Given the description of an element on the screen output the (x, y) to click on. 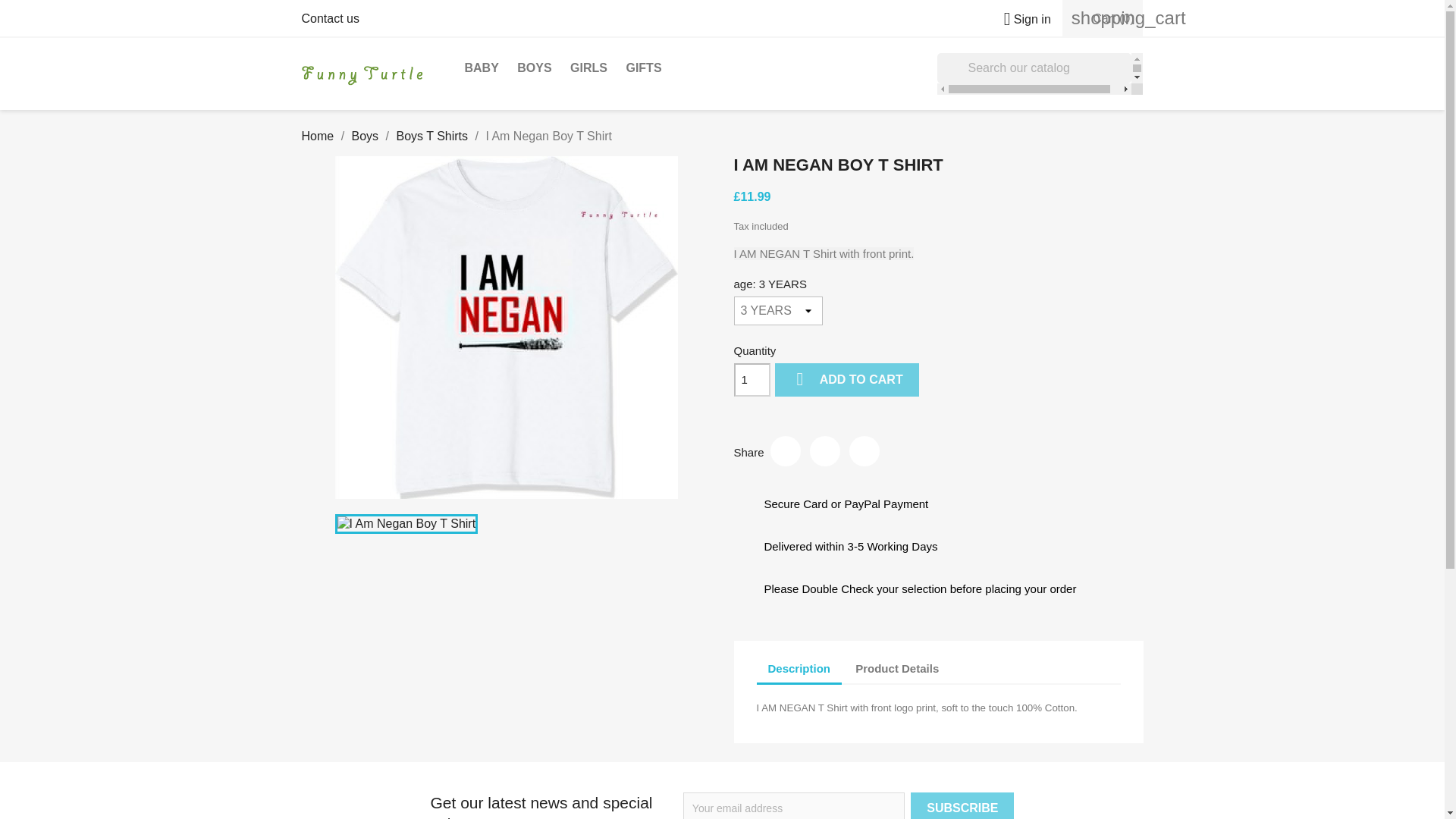
1 (751, 379)
GIFTS (642, 68)
Boys (365, 135)
Log in to your customer account (1020, 19)
Pinterest (863, 450)
Home (317, 135)
Product Details (897, 669)
GIRLS (588, 68)
BABY (481, 68)
Boys T Shirts (431, 135)
